Given the description of an element on the screen output the (x, y) to click on. 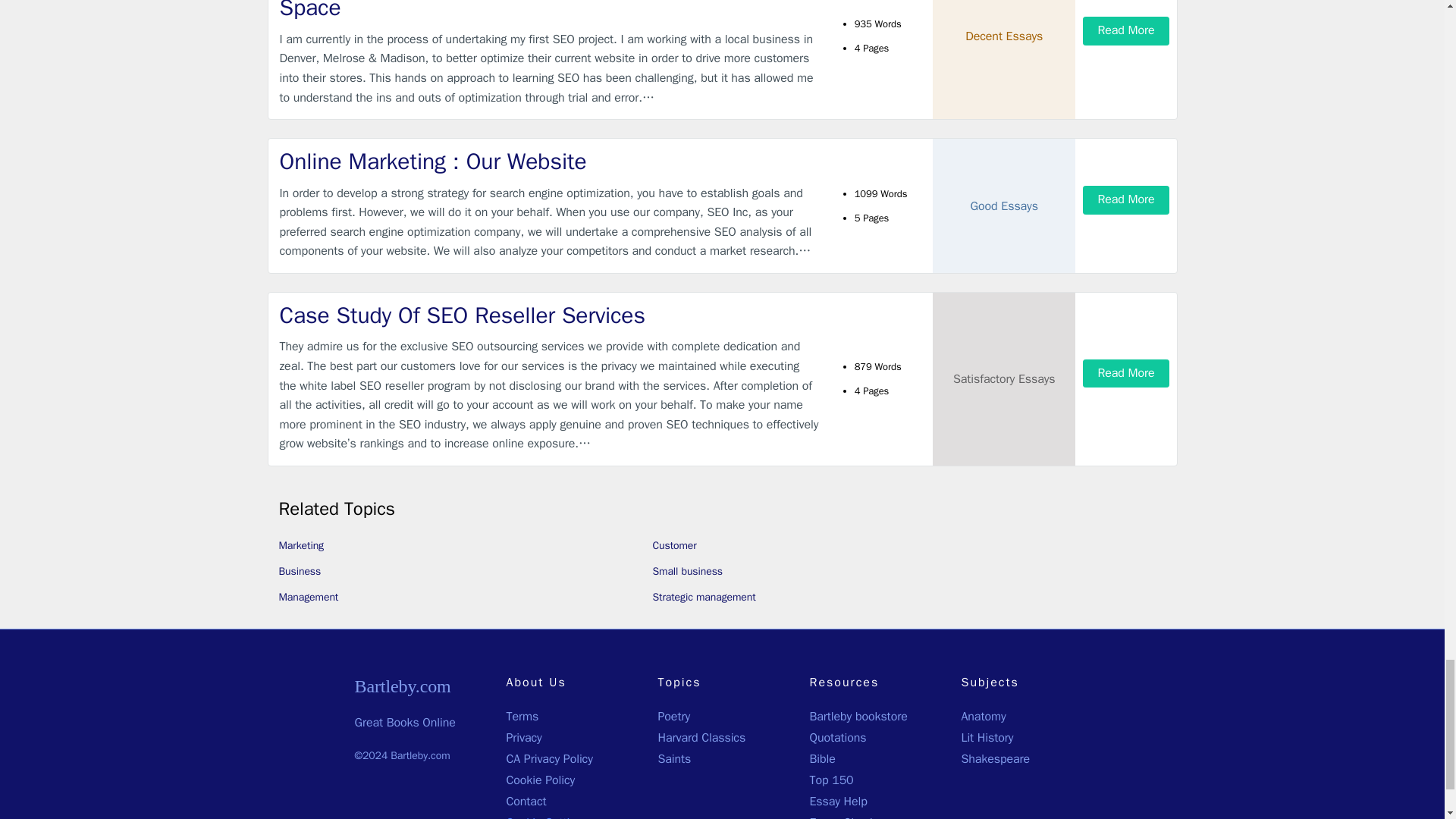
Management (309, 596)
Business (300, 571)
Small business (687, 571)
Strategic management (703, 596)
Marketing (301, 545)
Customer (673, 545)
